Given the description of an element on the screen output the (x, y) to click on. 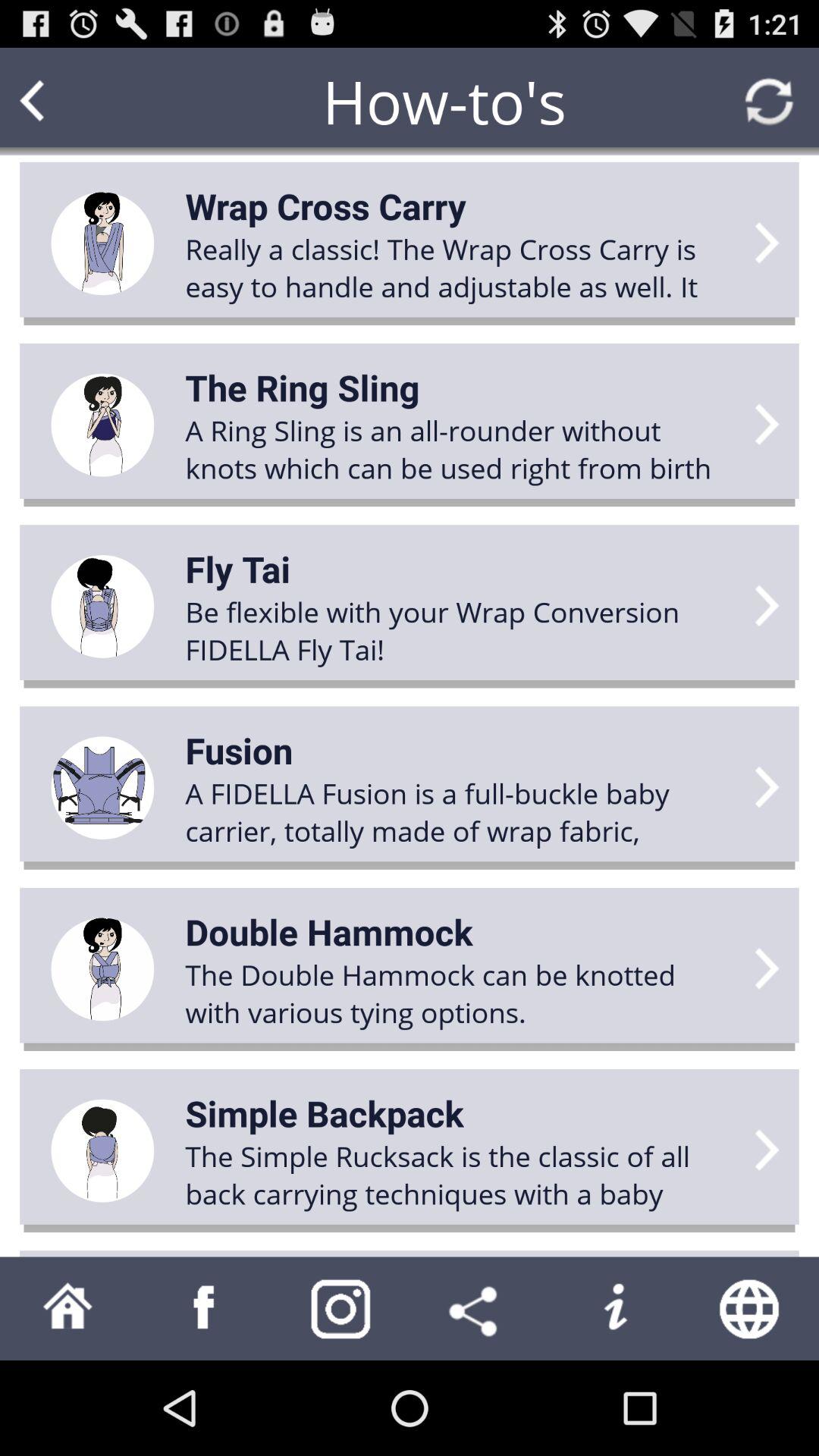
go to web (750, 1308)
